Given the description of an element on the screen output the (x, y) to click on. 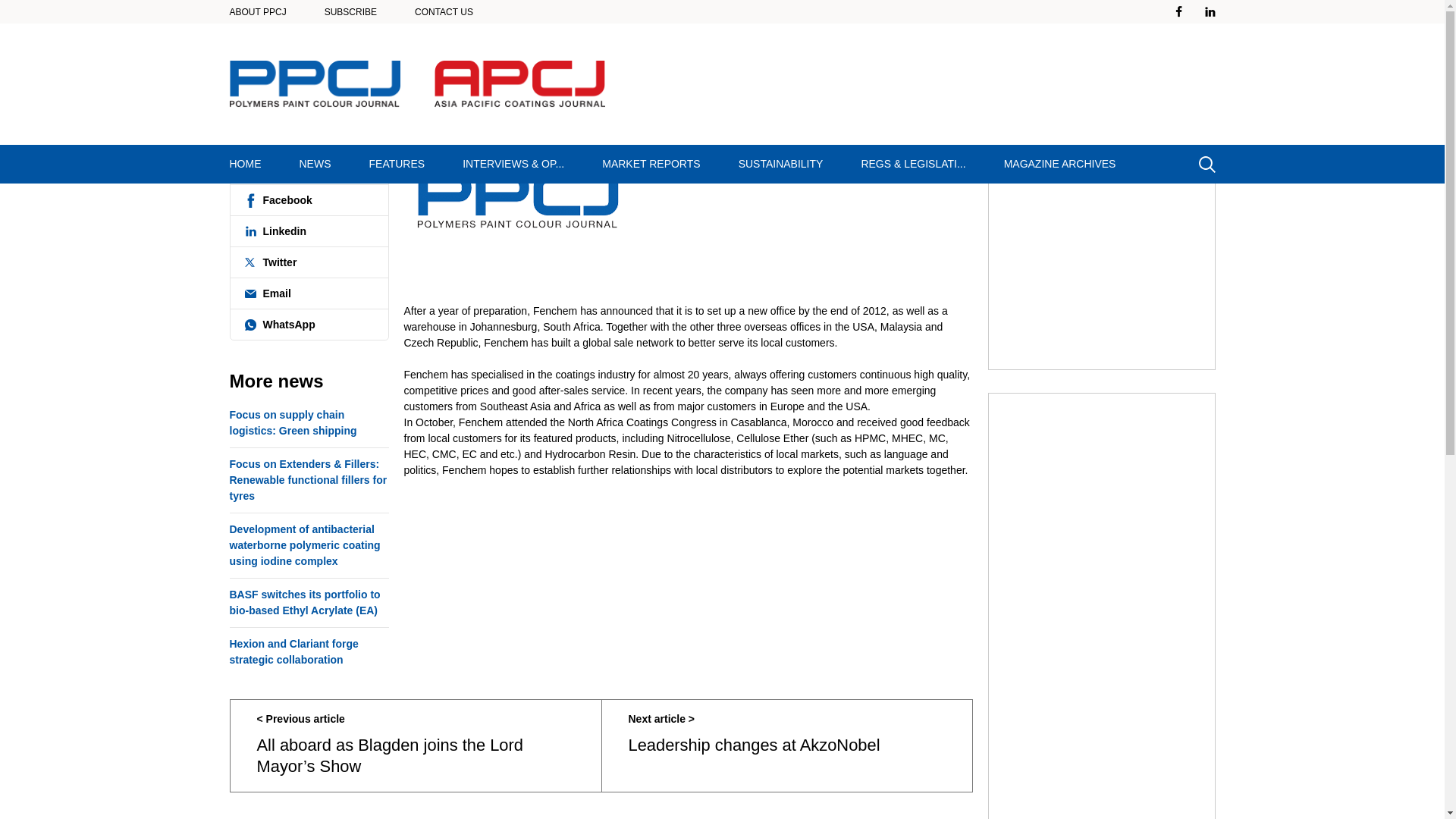
News (293, 33)
Go to the News Category archives. (293, 33)
FEATURES (397, 163)
3rd party ad content (936, 83)
HOME (246, 163)
WhatsApp (308, 324)
SUBSCRIBE (350, 11)
Facebook (308, 200)
Home (250, 33)
Focus on supply chain logistics: Green shipping (308, 427)
